Given the description of an element on the screen output the (x, y) to click on. 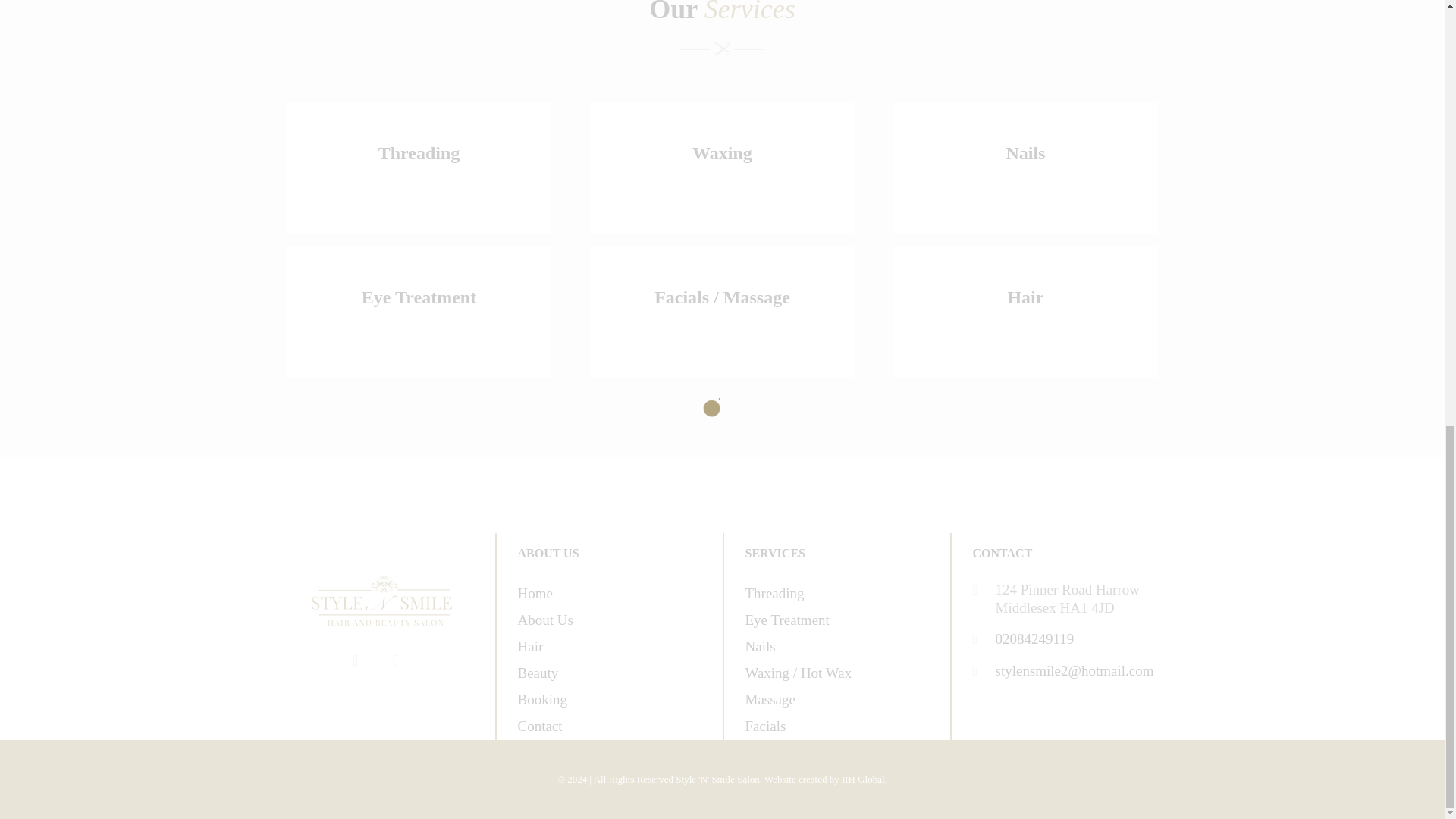
Hair (529, 646)
About Us (544, 619)
Eye Treatment (786, 619)
Nails (759, 646)
Threading (773, 593)
Home (533, 593)
Hair Salon (380, 601)
Massage (769, 699)
Beauty (536, 672)
Contact (539, 725)
